Given the description of an element on the screen output the (x, y) to click on. 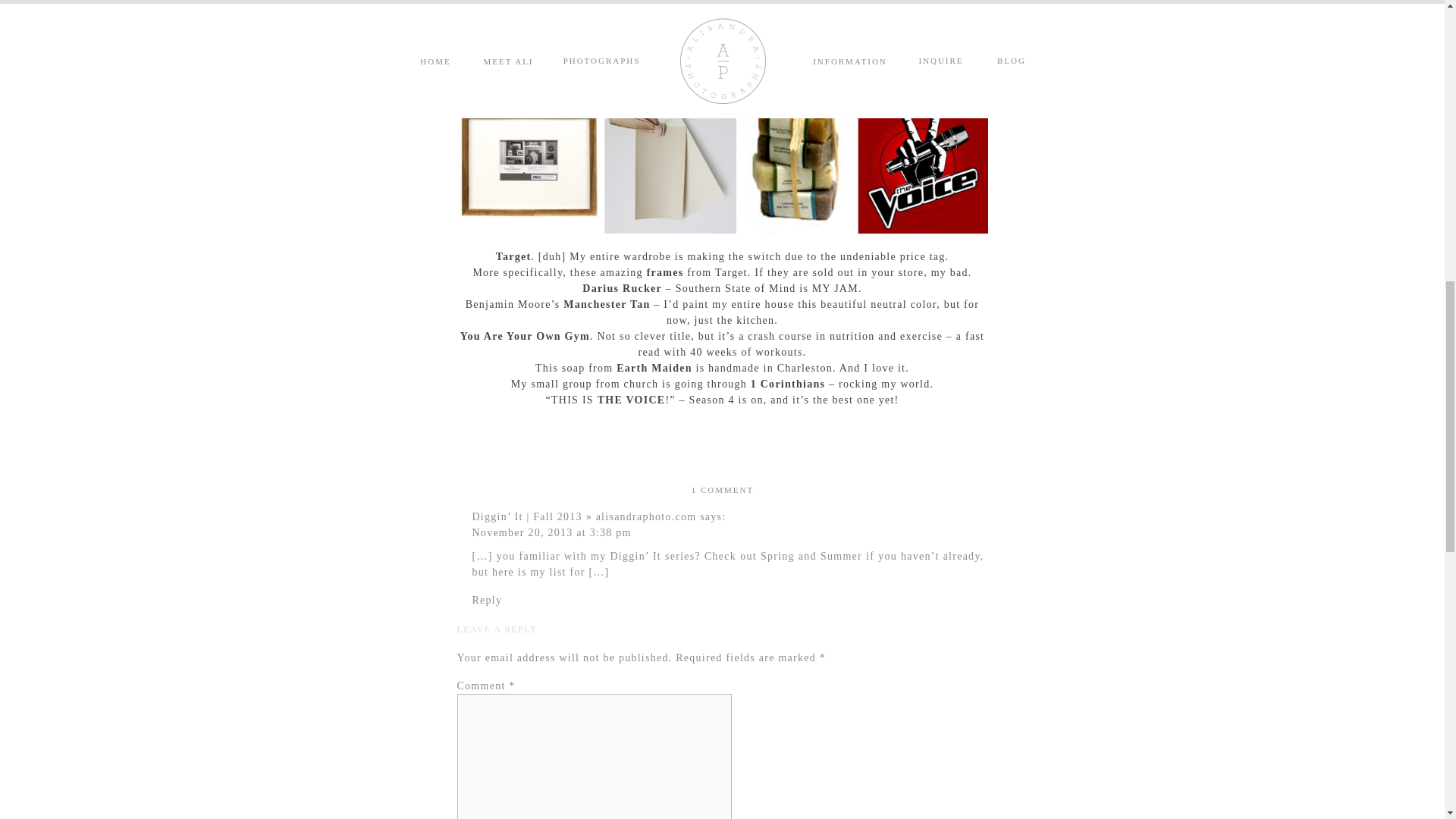
November 20, 2013 at 3:38 pm (550, 532)
Reply (486, 600)
